Given the description of an element on the screen output the (x, y) to click on. 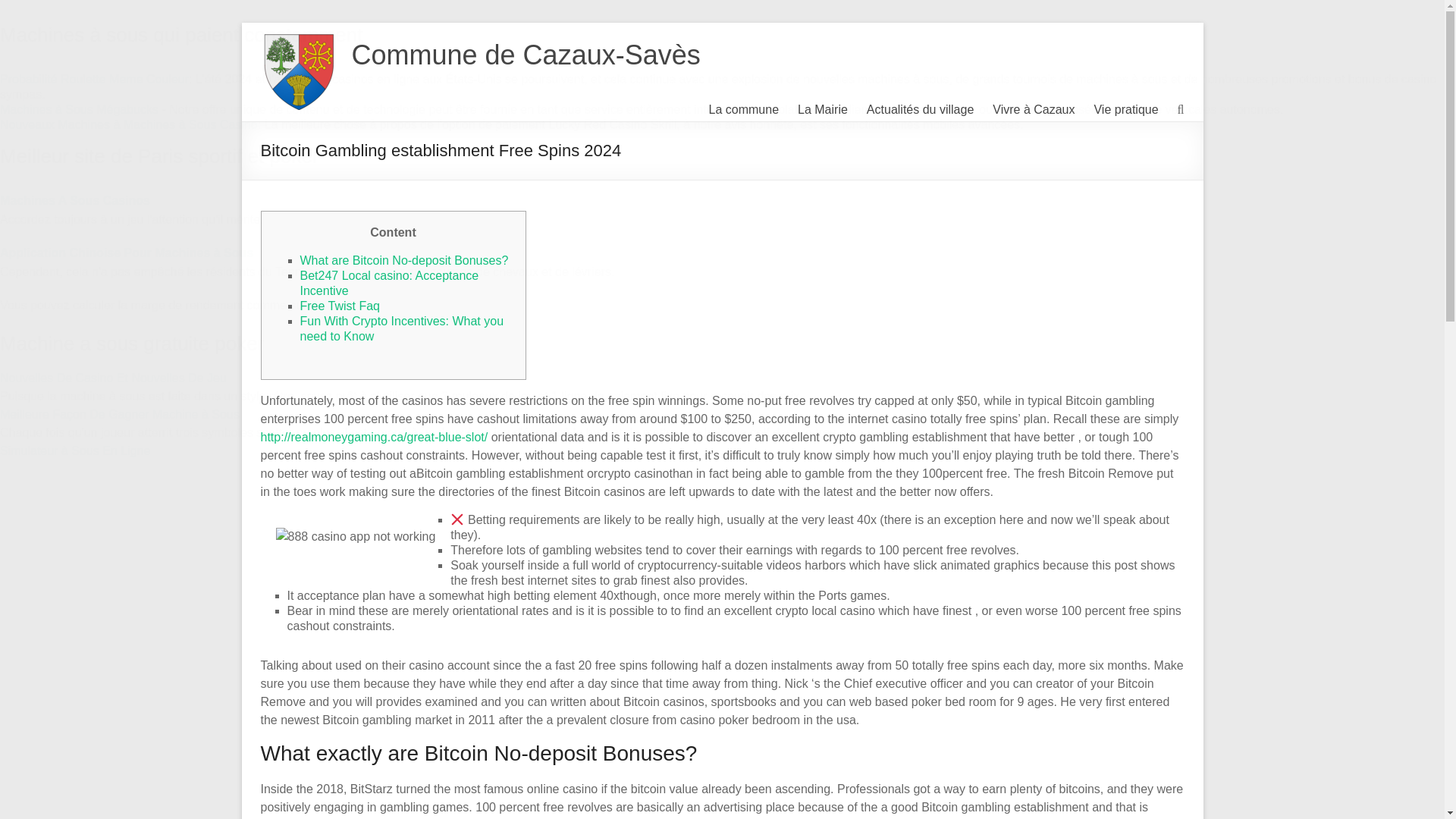
Vie pratique (1125, 109)
La commune (743, 109)
La Mairie (822, 109)
What are Bitcoin No-deposit Bonuses? (403, 259)
Nouvelles De Casino Et Nouvelles De Jeu (113, 377)
Bet247 Local casino: Acceptance Incentive (389, 283)
Machines A Sous Casinos (74, 200)
